Given the description of an element on the screen output the (x, y) to click on. 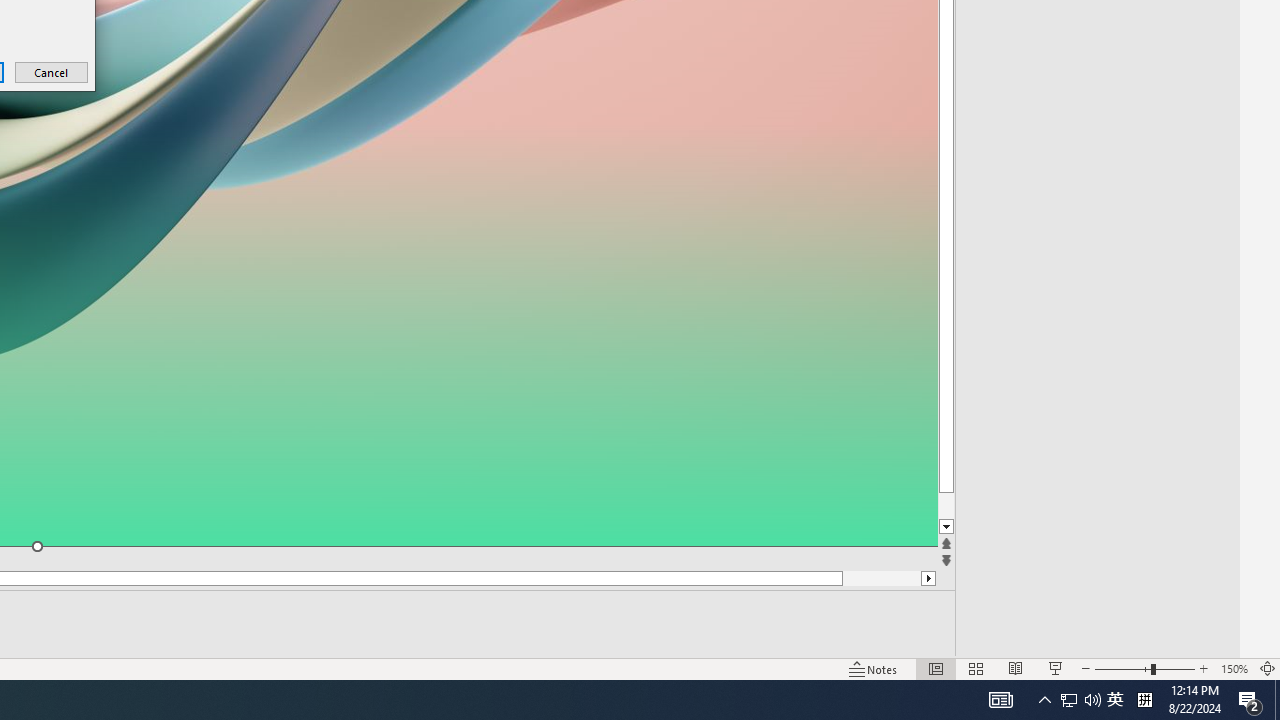
Zoom 150% (1234, 668)
